Given the description of an element on the screen output the (x, y) to click on. 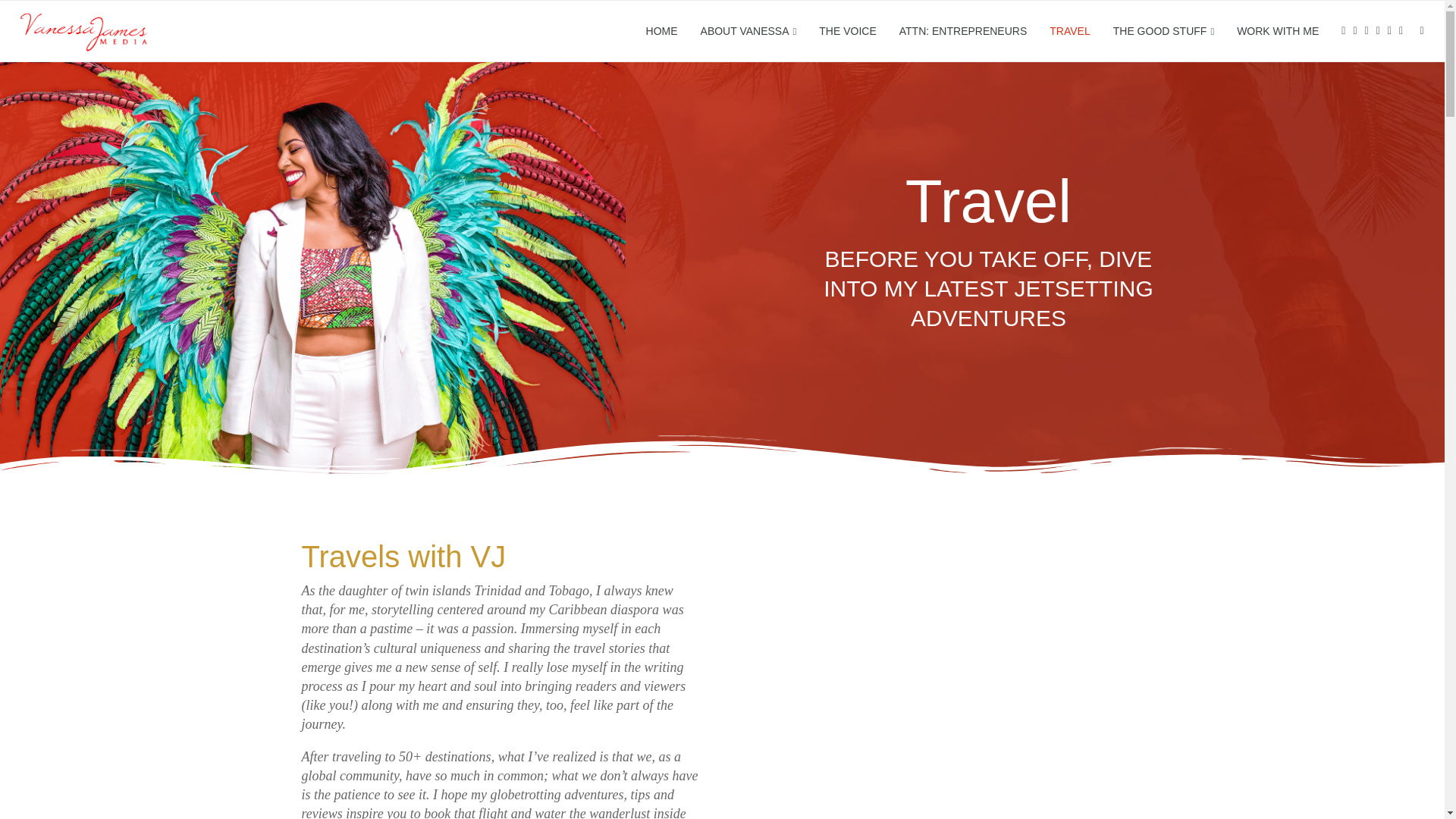
ATTN: ENTREPRENEURS (963, 30)
THE GOOD STUFF (1163, 31)
THE VOICE (847, 30)
WORK WITH ME (1277, 30)
ABOUT VANESSA (748, 31)
